Given the description of an element on the screen output the (x, y) to click on. 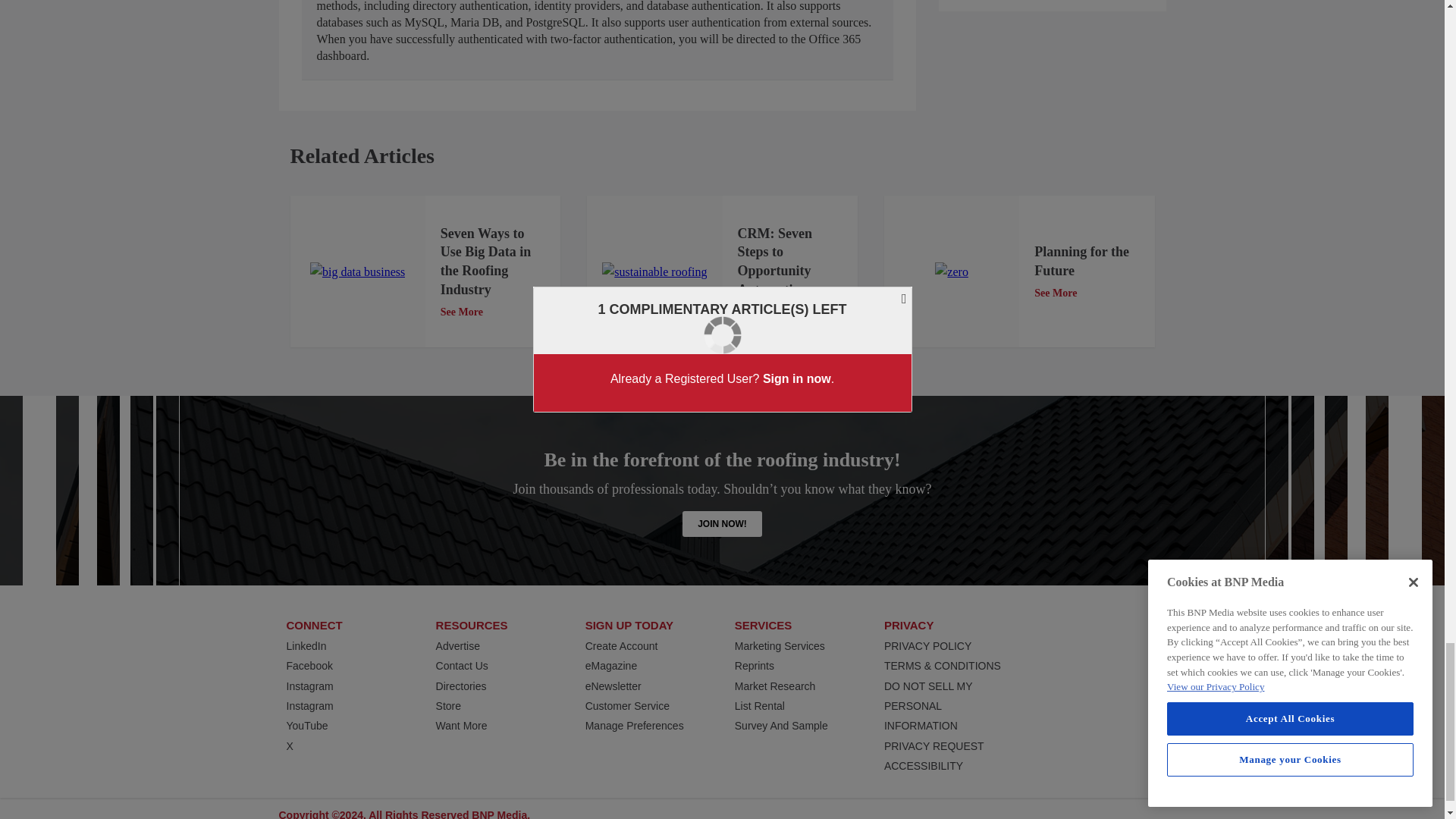
Interaction questions (1052, 5)
zero (951, 271)
